Given the description of an element on the screen output the (x, y) to click on. 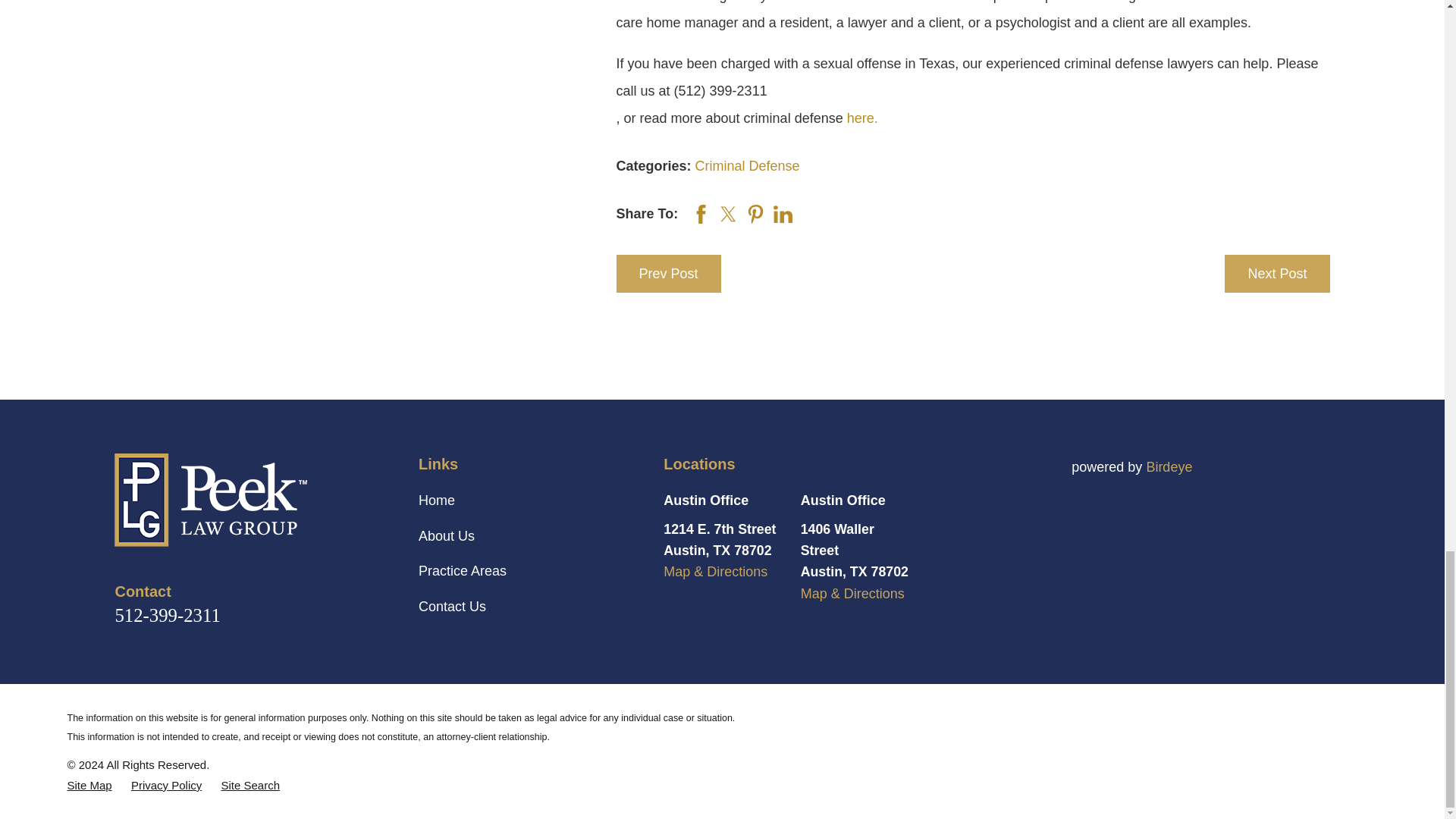
Peek Law Group (211, 500)
Home (249, 500)
